Given the description of an element on the screen output the (x, y) to click on. 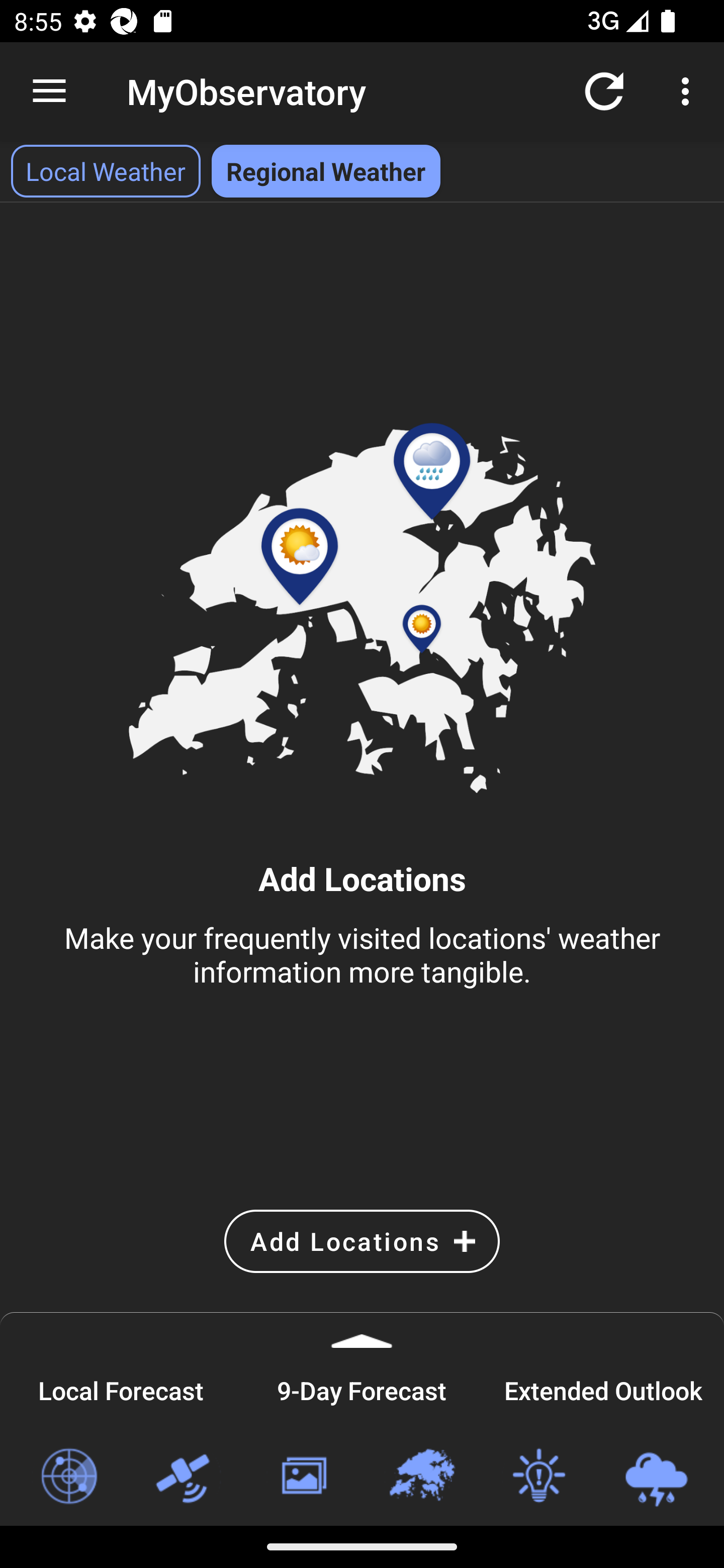
Navigate up (49, 91)
Refresh (604, 90)
More options (688, 90)
Local Weather Select Local Weather (105, 170)
Regional Weather Regional Weather selected (325, 170)
Add Locations (361, 1241)
Expand (362, 1330)
Local Forecast (120, 1387)
Extended Outlook (603, 1387)
Radar Images (68, 1476)
Satellite Images (185, 1476)
Weather Photos (302, 1476)
Regional Weather (420, 1476)
Weather Tips (537, 1476)
Loc-based Rain & Lightning Forecast (655, 1476)
